Given the description of an element on the screen output the (x, y) to click on. 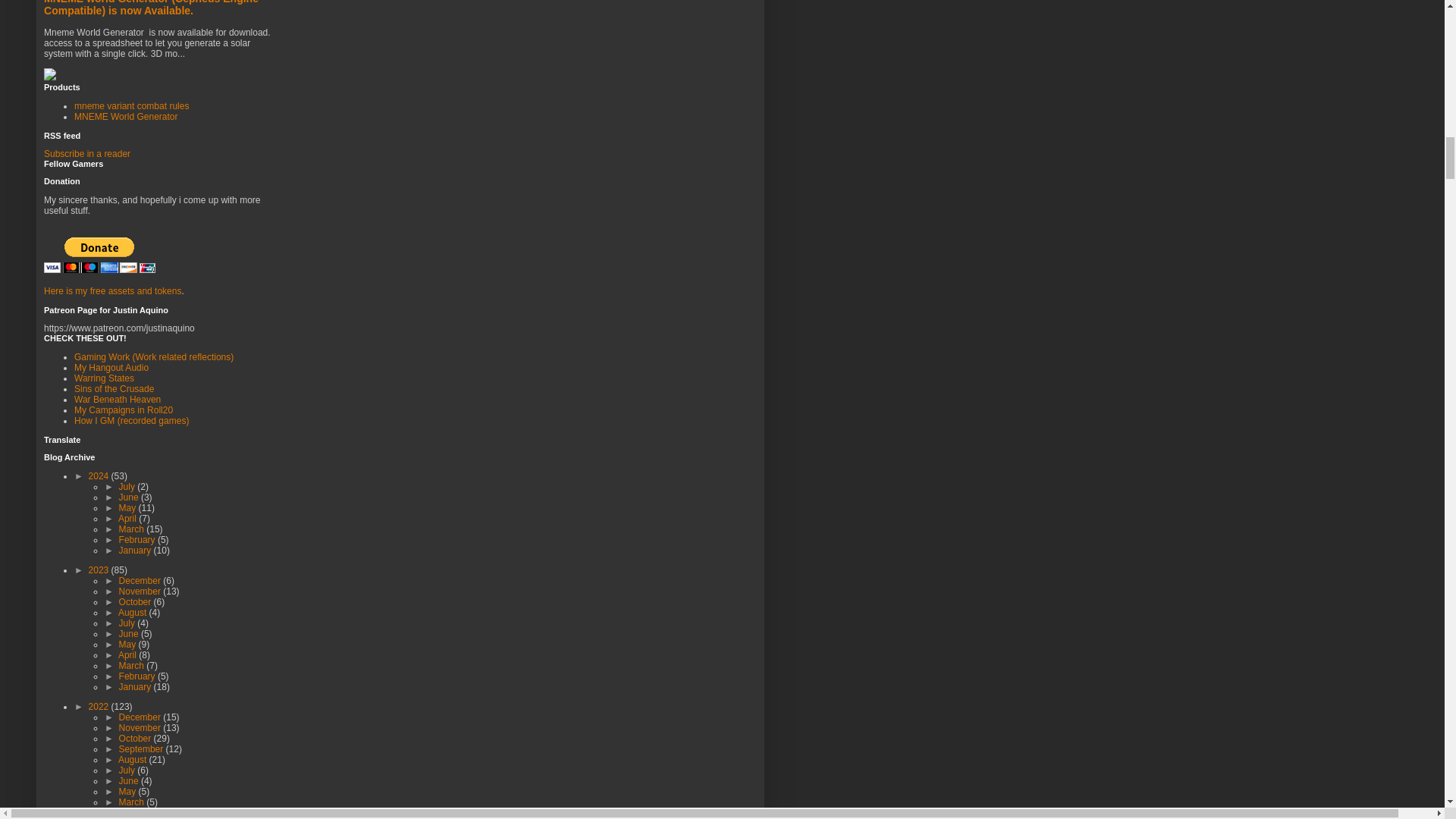
Subscribe to my feed (87, 153)
